Given the description of an element on the screen output the (x, y) to click on. 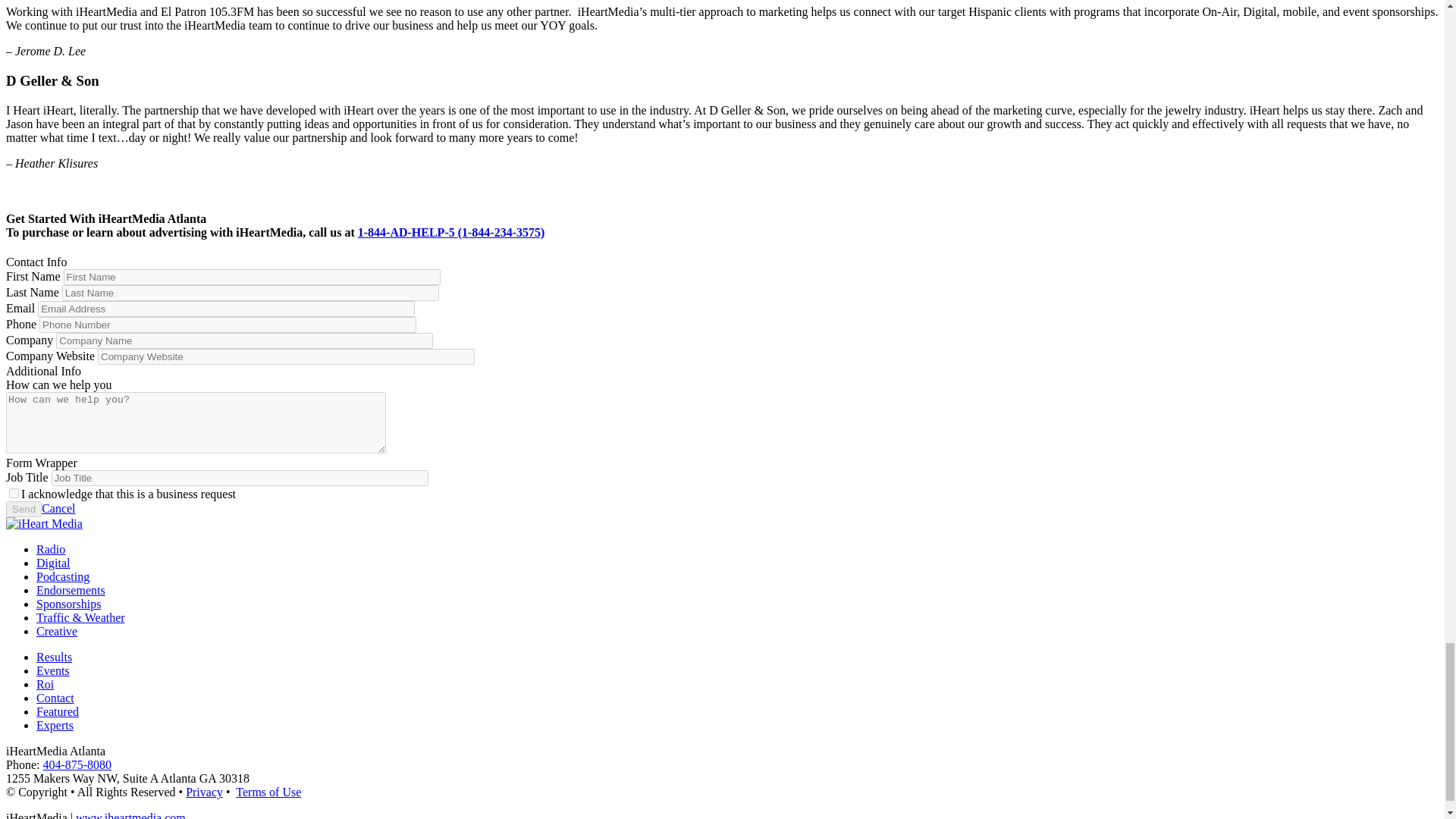
Contact (55, 697)
ROI (44, 684)
1 (13, 492)
sponsorships (68, 603)
Featured (57, 711)
Events (52, 670)
iHeart Media (43, 522)
Endorsements (70, 590)
Podcasting (62, 576)
Radio (50, 549)
Digital (52, 562)
Podcast (80, 617)
Ask an Expert (55, 725)
Creative (53, 656)
iHeartMedia (130, 815)
